Given the description of an element on the screen output the (x, y) to click on. 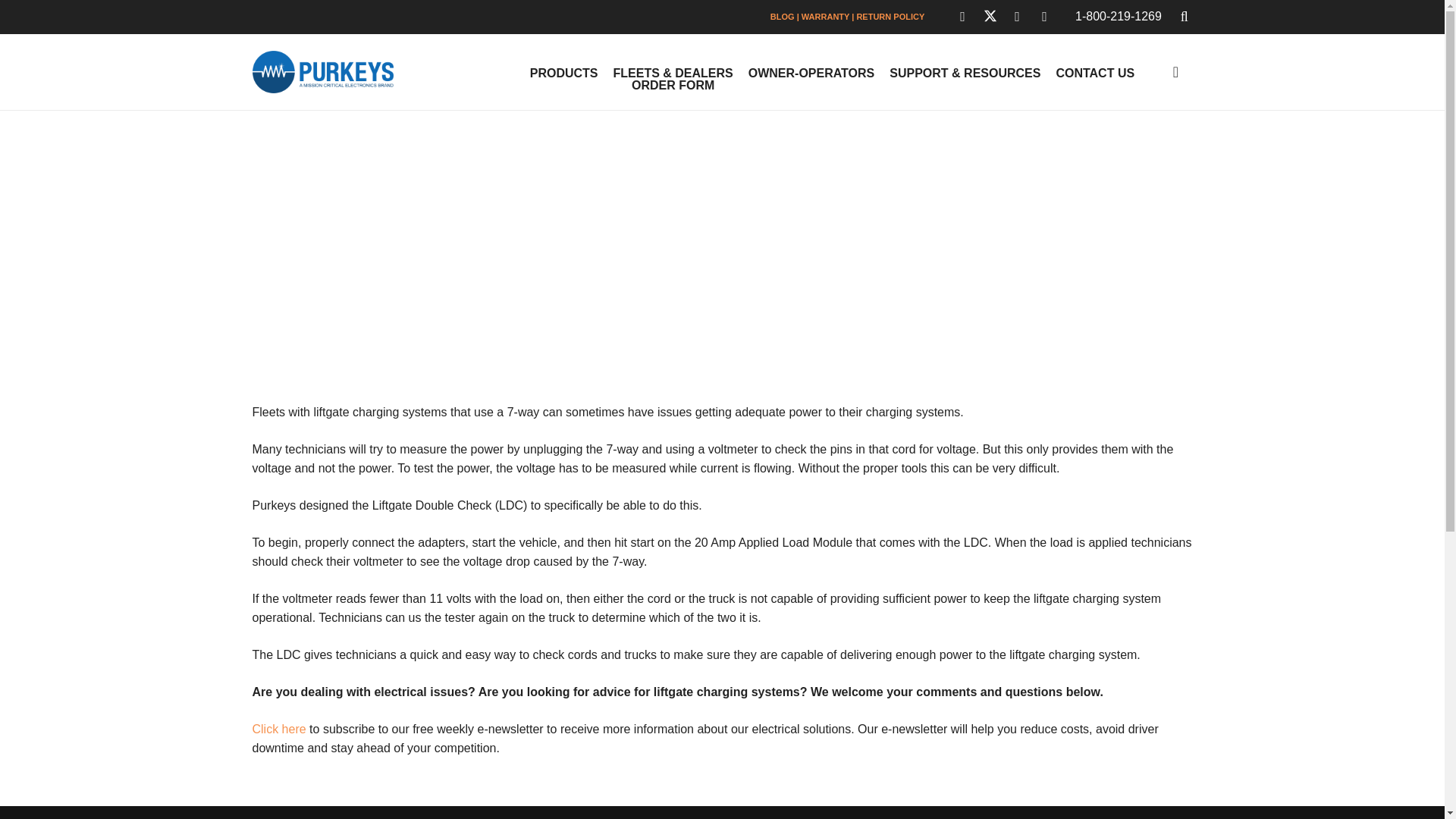
RETURN POLICY (890, 16)
BLOG (782, 16)
Twitter (990, 16)
PRODUCTS (563, 73)
LinkedIn (1017, 16)
OWNER-OPERATORS (811, 73)
Click here (278, 728)
1-800-219-1269 (1118, 15)
WARRANTY (825, 16)
CONTACT US (1094, 73)
Facebook (962, 16)
YouTube (1044, 16)
